Given the description of an element on the screen output the (x, y) to click on. 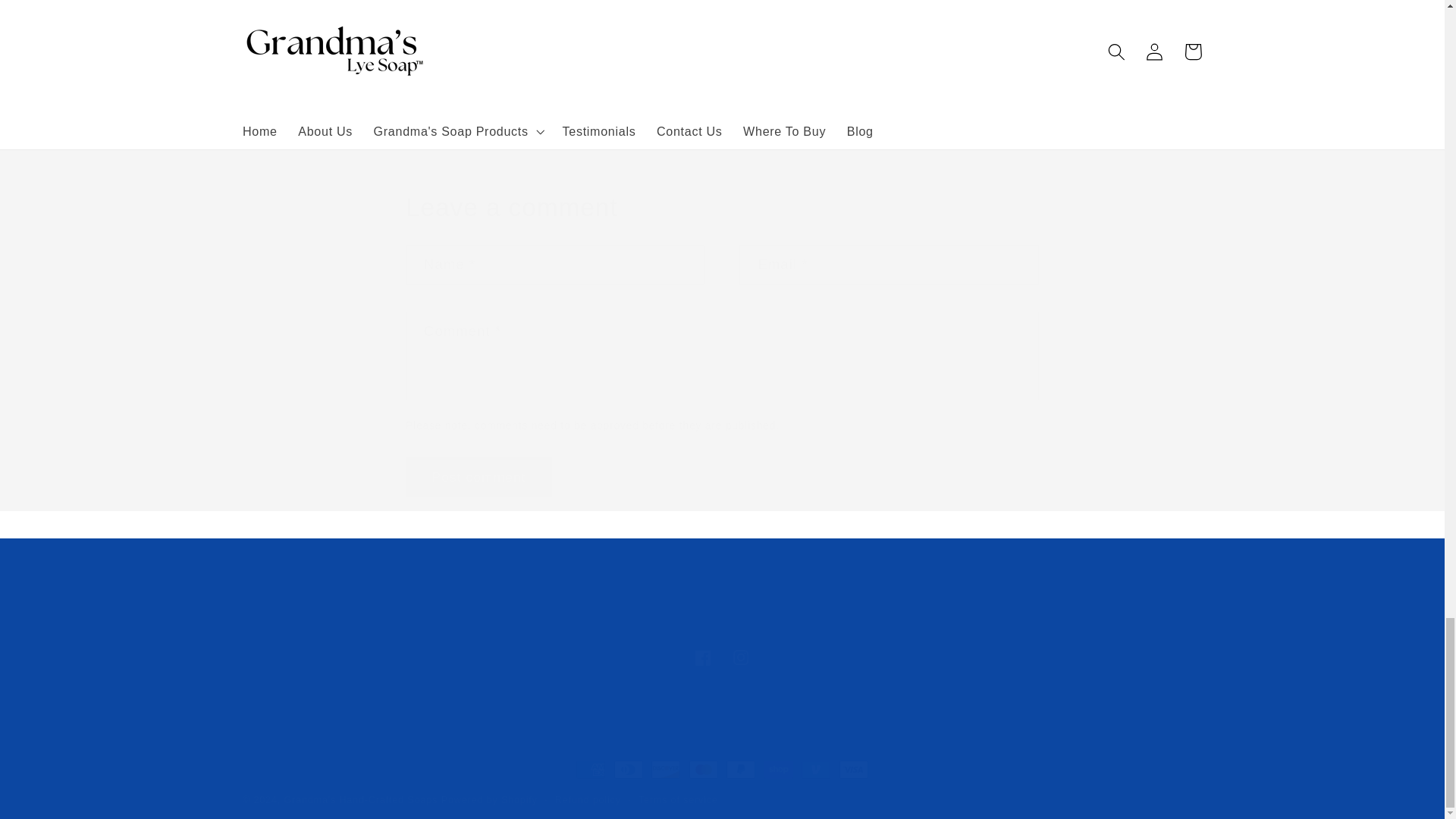
Search About Products Terms of Service Refund policy (722, 597)
Post comment (478, 476)
HERBAL OF THE MONTH (550, 26)
Search About Products Terms of Service Refund policy (722, 657)
